Given the description of an element on the screen output the (x, y) to click on. 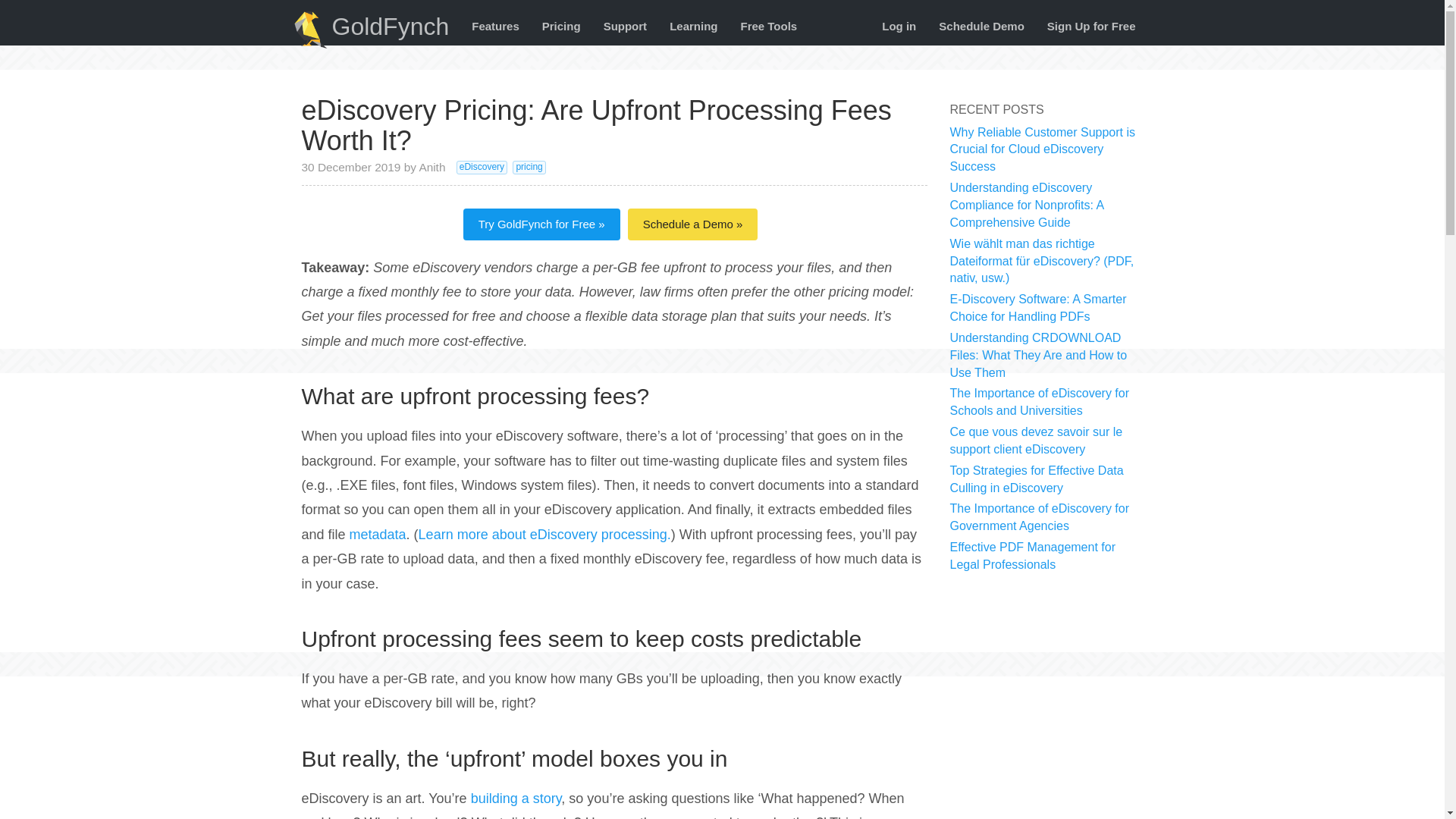
Sign Up for Free (1091, 26)
Schedule Demo (981, 26)
Support (625, 26)
Pricing (561, 26)
Log in (898, 26)
metadata (377, 534)
Sign Up for Free (1091, 26)
Learn more about eDiscovery processing. (545, 534)
Pricing (561, 26)
Features (495, 26)
